Given the description of an element on the screen output the (x, y) to click on. 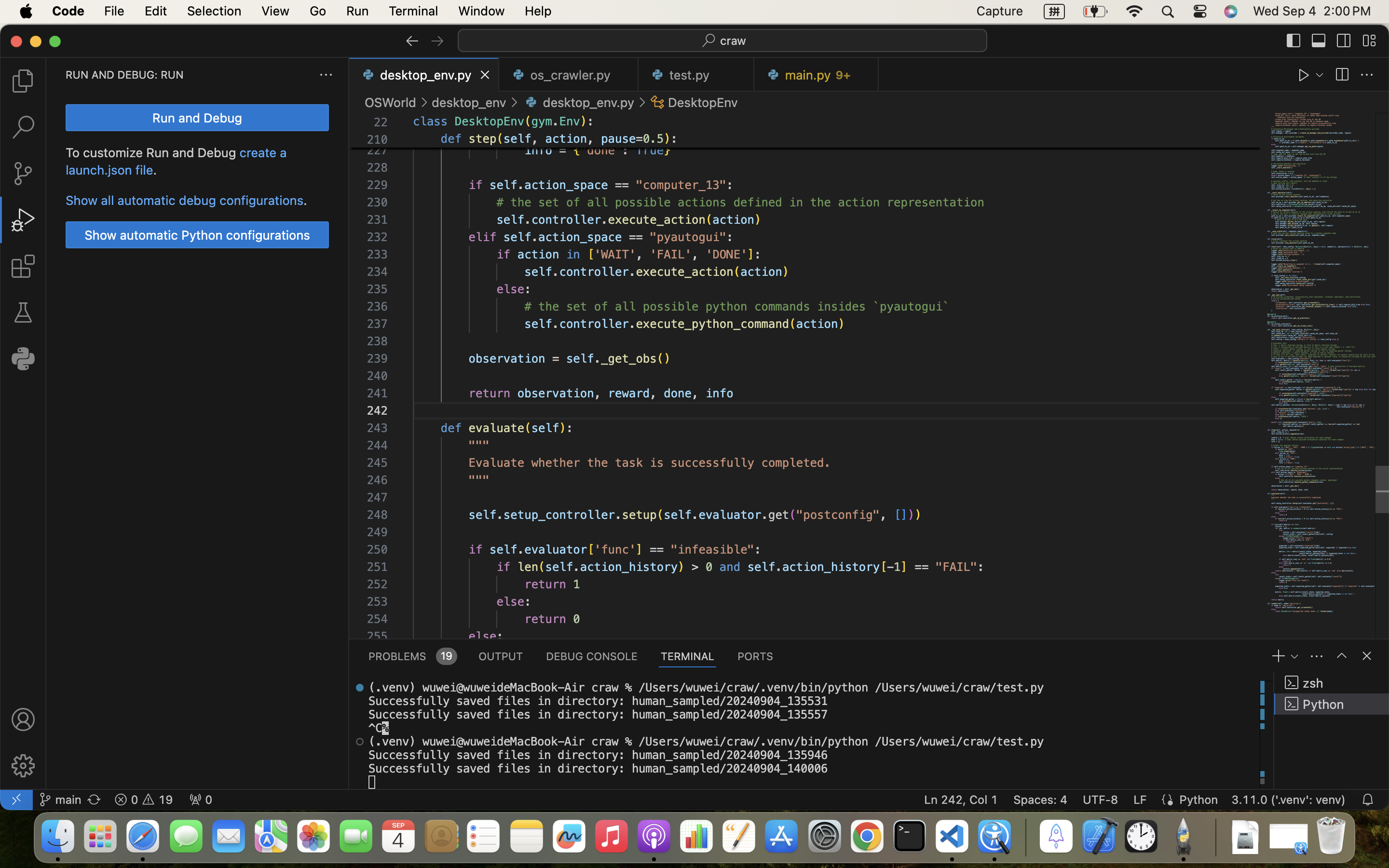
0 main.py   9+ Element type: AXRadioButton (816, 74)
action Element type: AXStaticText (565, 138)
self Element type: AXStaticText (517, 138)
0.4285714328289032 Element type: AXDockItem (1024, 836)
 Element type: AXButton (1369, 40)
